Given the description of an element on the screen output the (x, y) to click on. 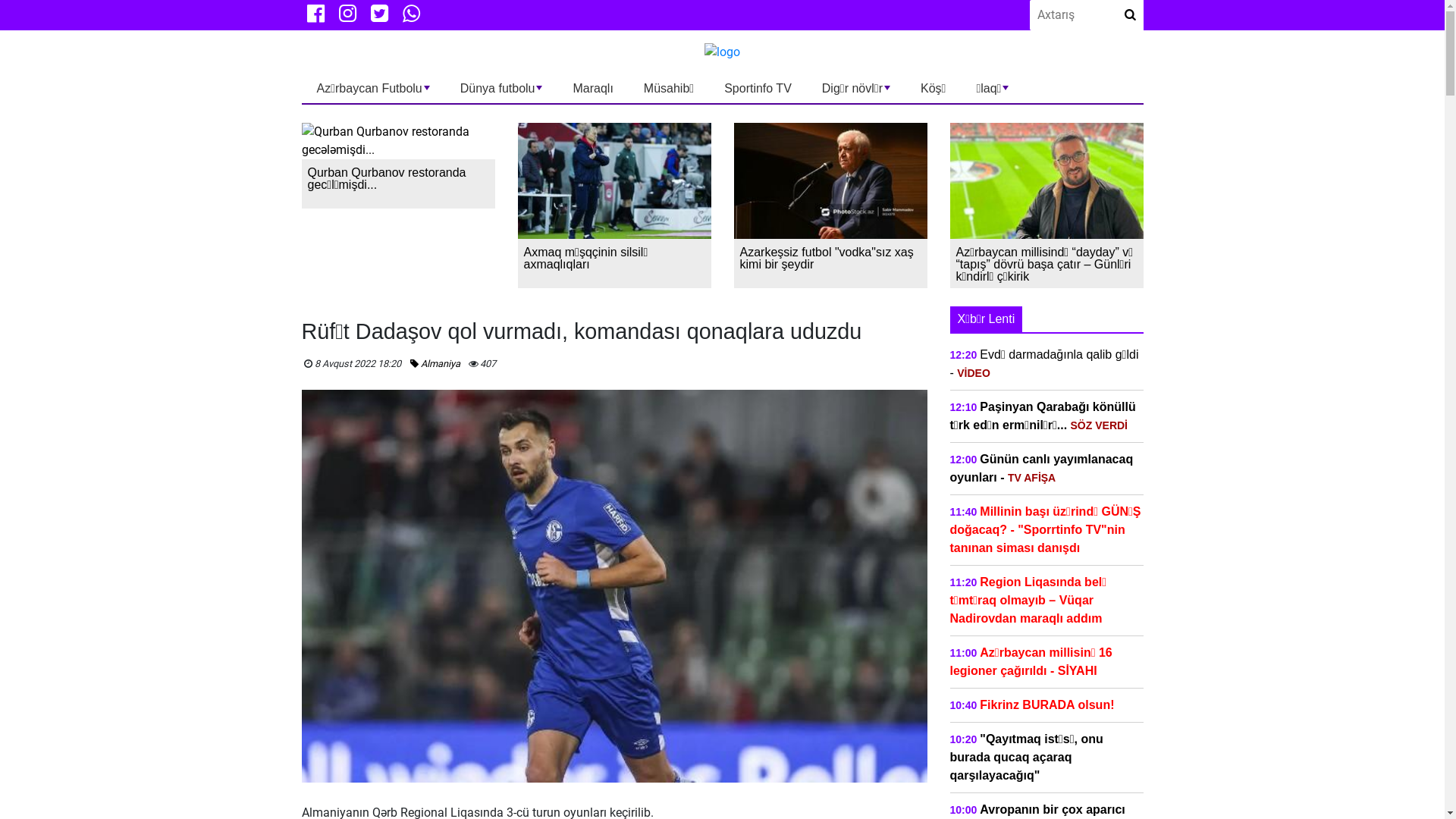
Almaniya Element type: text (433, 363)
Sportinfo TV Element type: text (757, 88)
Fikrinz BURADA olsun! Element type: text (1046, 704)
